Given the description of an element on the screen output the (x, y) to click on. 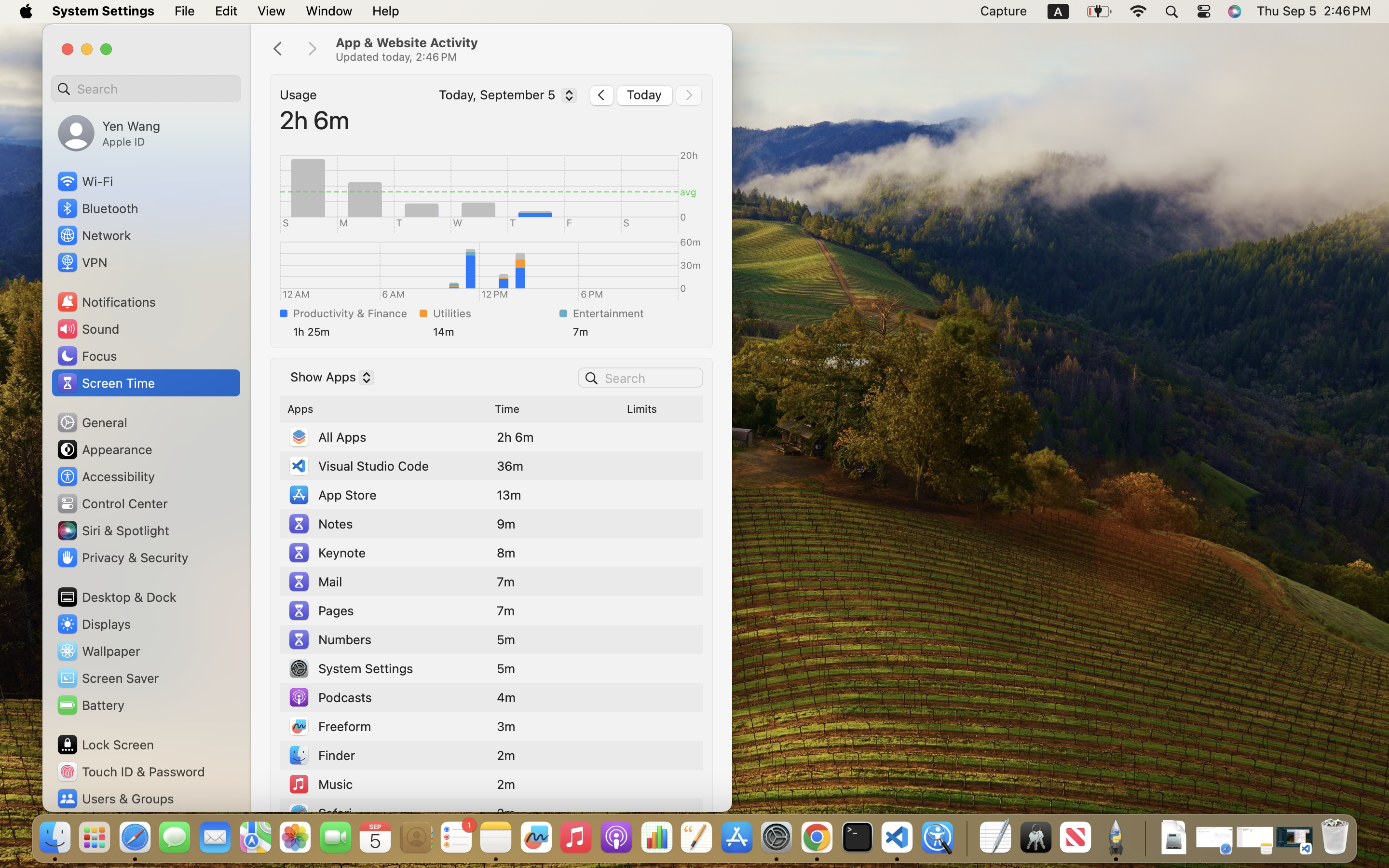
Bluetooth Element type: AXStaticText (96, 207)
App & Website Activity Element type: AXStaticText (523, 49)
Desktop & Dock Element type: AXStaticText (115, 596)
Mail Element type: AXStaticText (314, 581)
Sound Element type: AXStaticText (87, 328)
